Given the description of an element on the screen output the (x, y) to click on. 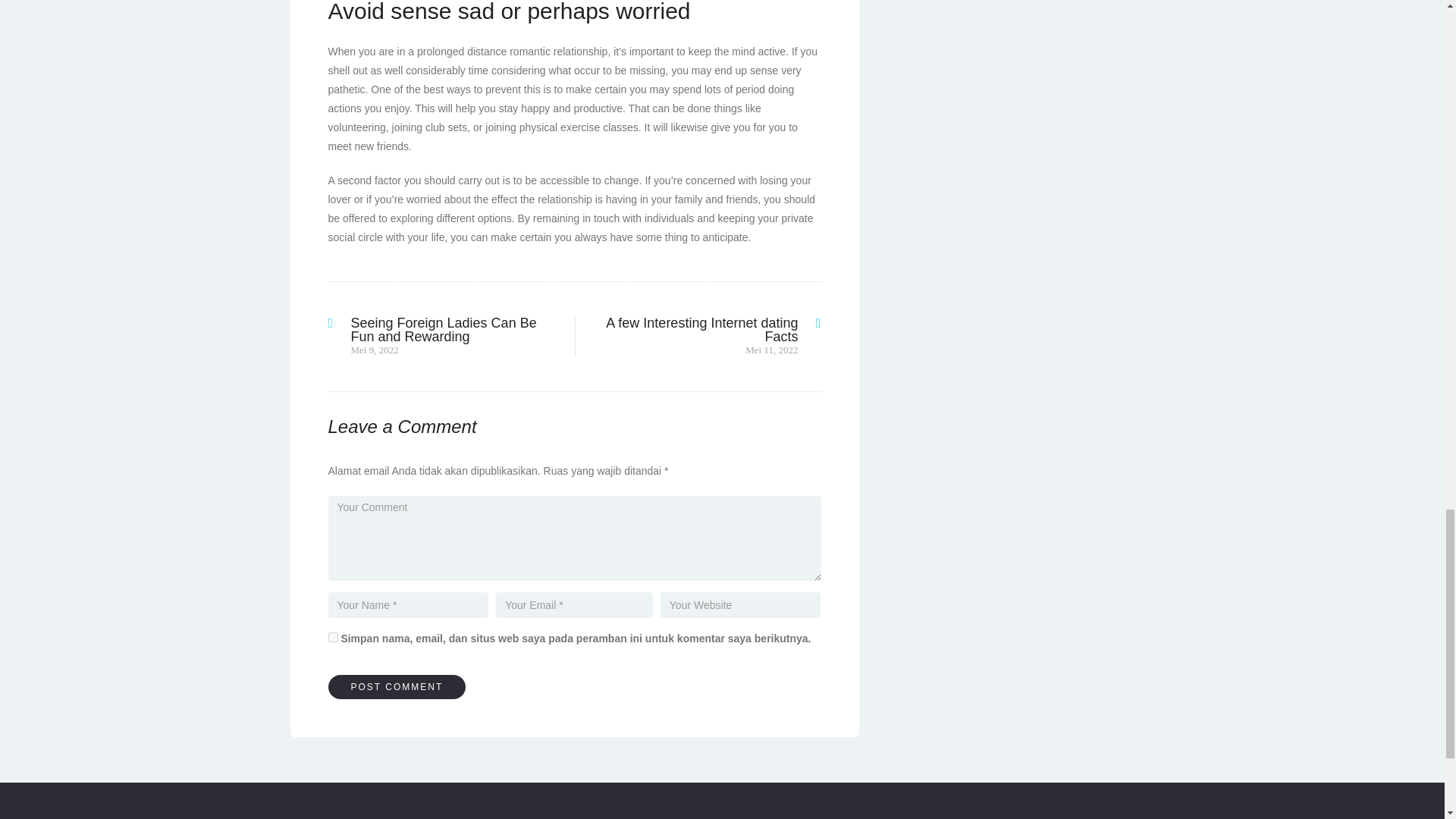
Post Comment (396, 686)
yes (332, 637)
Post Comment (396, 686)
